Given the description of an element on the screen output the (x, y) to click on. 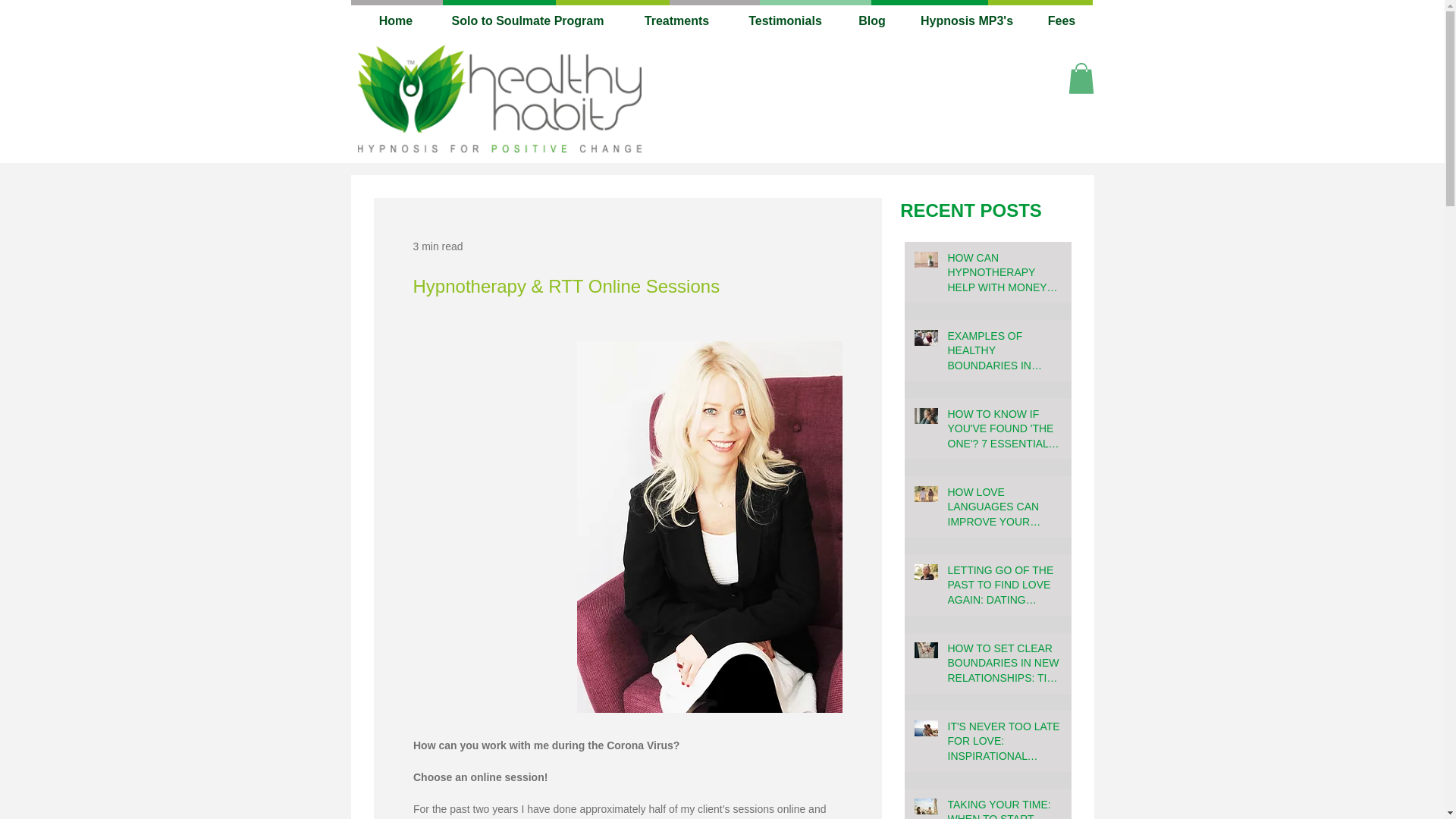
HOW CAN HYPNOTHERAPY HELP WITH MONEY BLOCKS? (1004, 276)
Blog (871, 21)
Solo to Soulmate Program (527, 21)
HOW LOVE LANGUAGES CAN IMPROVE YOUR RELATIONSHIP! (1004, 510)
Hypnosis MP3's (966, 21)
Home (395, 21)
Testimonials (785, 21)
Fees (1061, 21)
LETTING GO OF THE PAST TO FIND LOVE AGAIN: DATING AFTER 40! (1004, 588)
3 min read (437, 245)
